Given the description of an element on the screen output the (x, y) to click on. 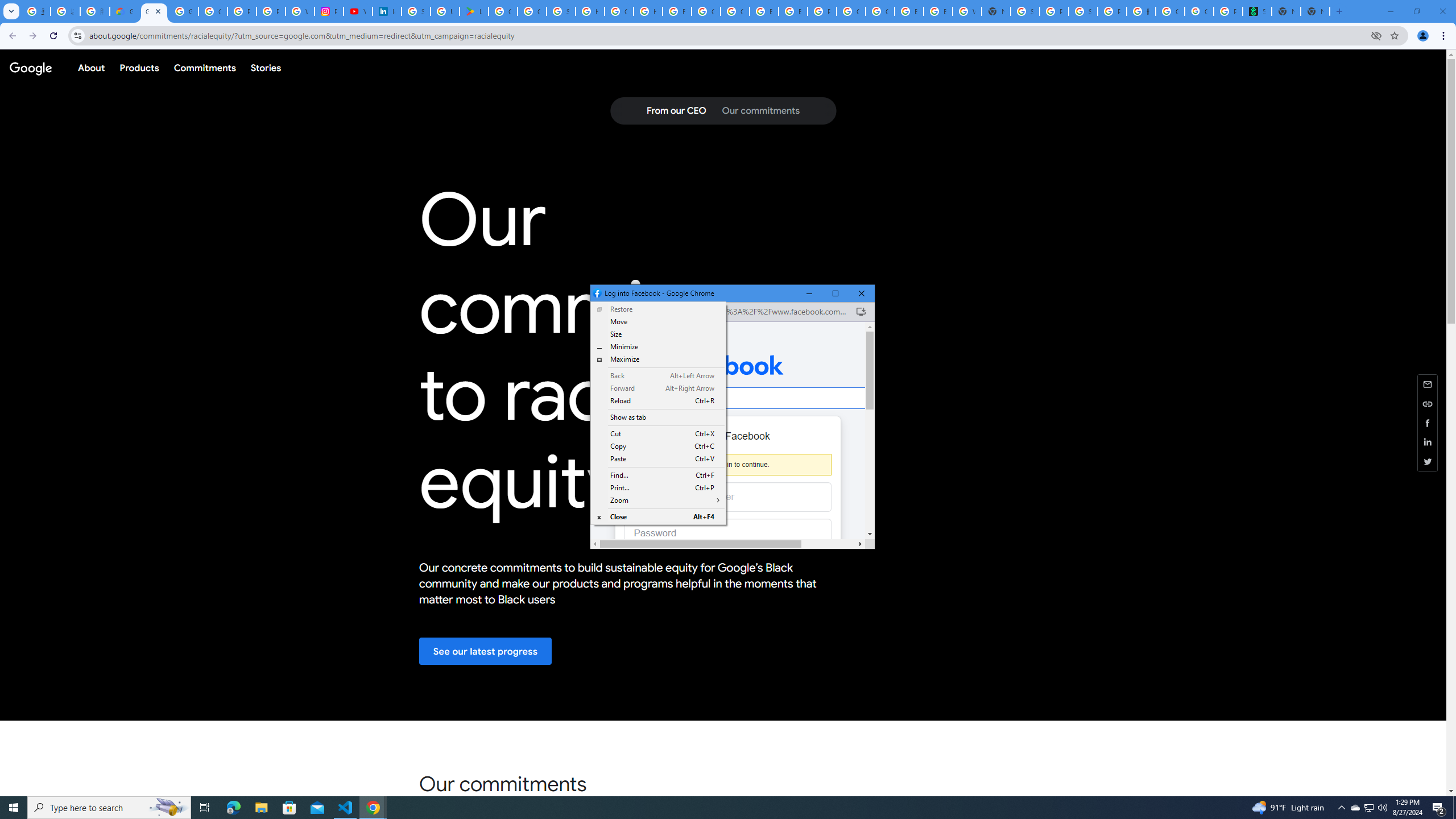
Install Facebook (860, 311)
Email or phone number (727, 497)
Reload	Ctrl+R (658, 400)
Running applications (717, 807)
Show as tab (658, 417)
File Explorer (261, 807)
User Promoted Notification Area (1368, 807)
